Given the description of an element on the screen output the (x, y) to click on. 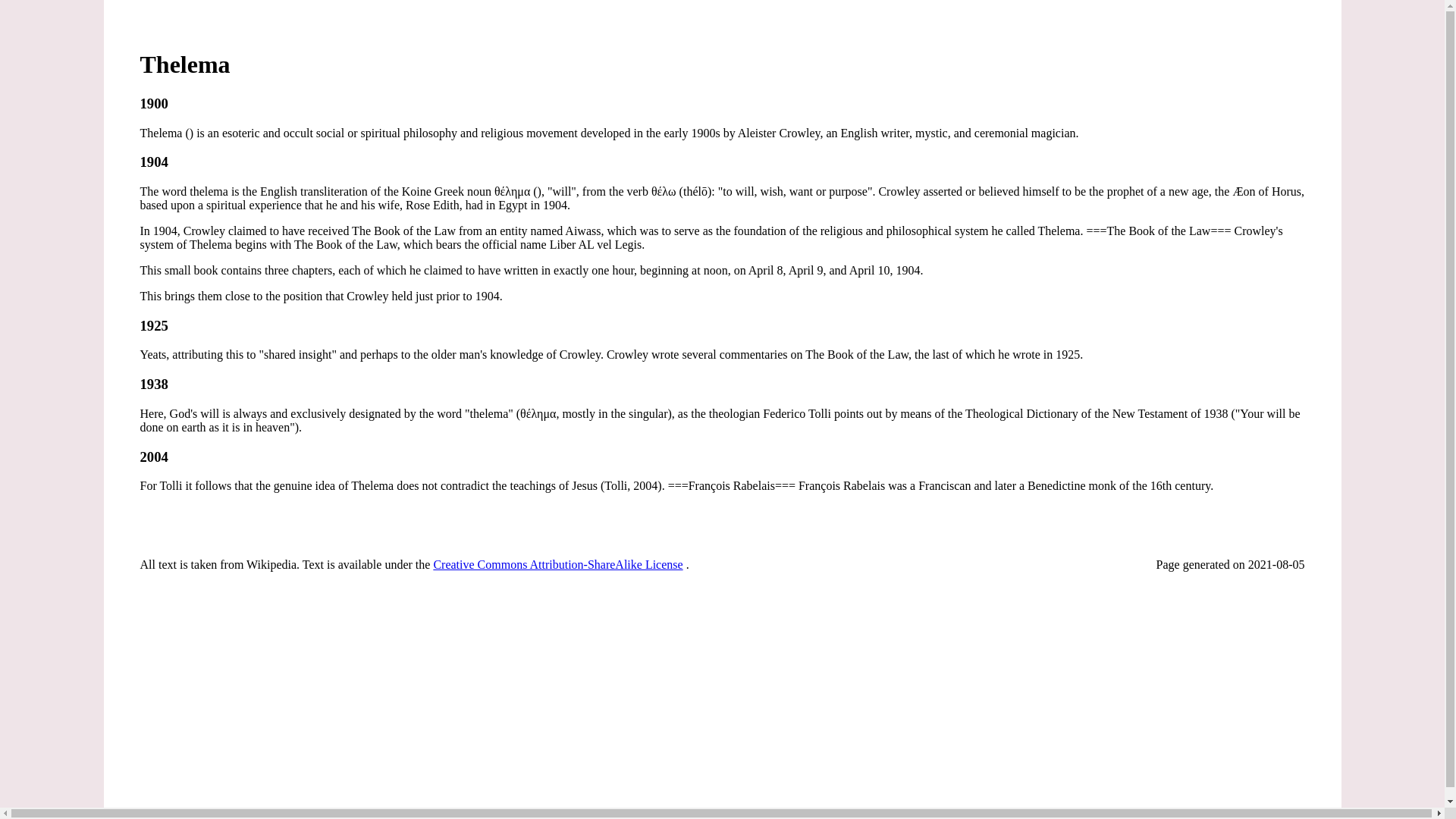
Creative Commons Attribution-ShareAlike License (557, 563)
